Given the description of an element on the screen output the (x, y) to click on. 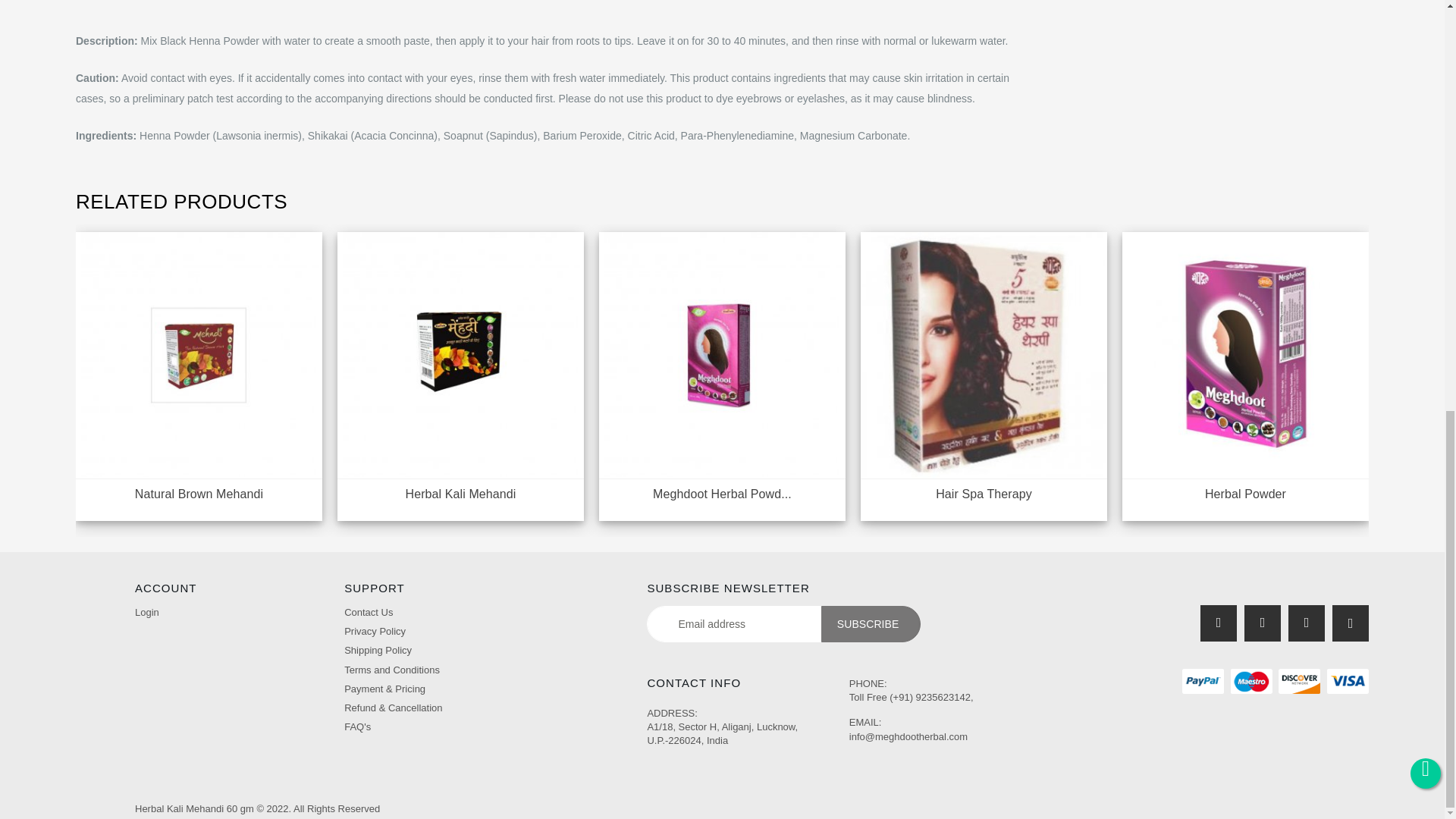
Subscribe (871, 624)
